Given the description of an element on the screen output the (x, y) to click on. 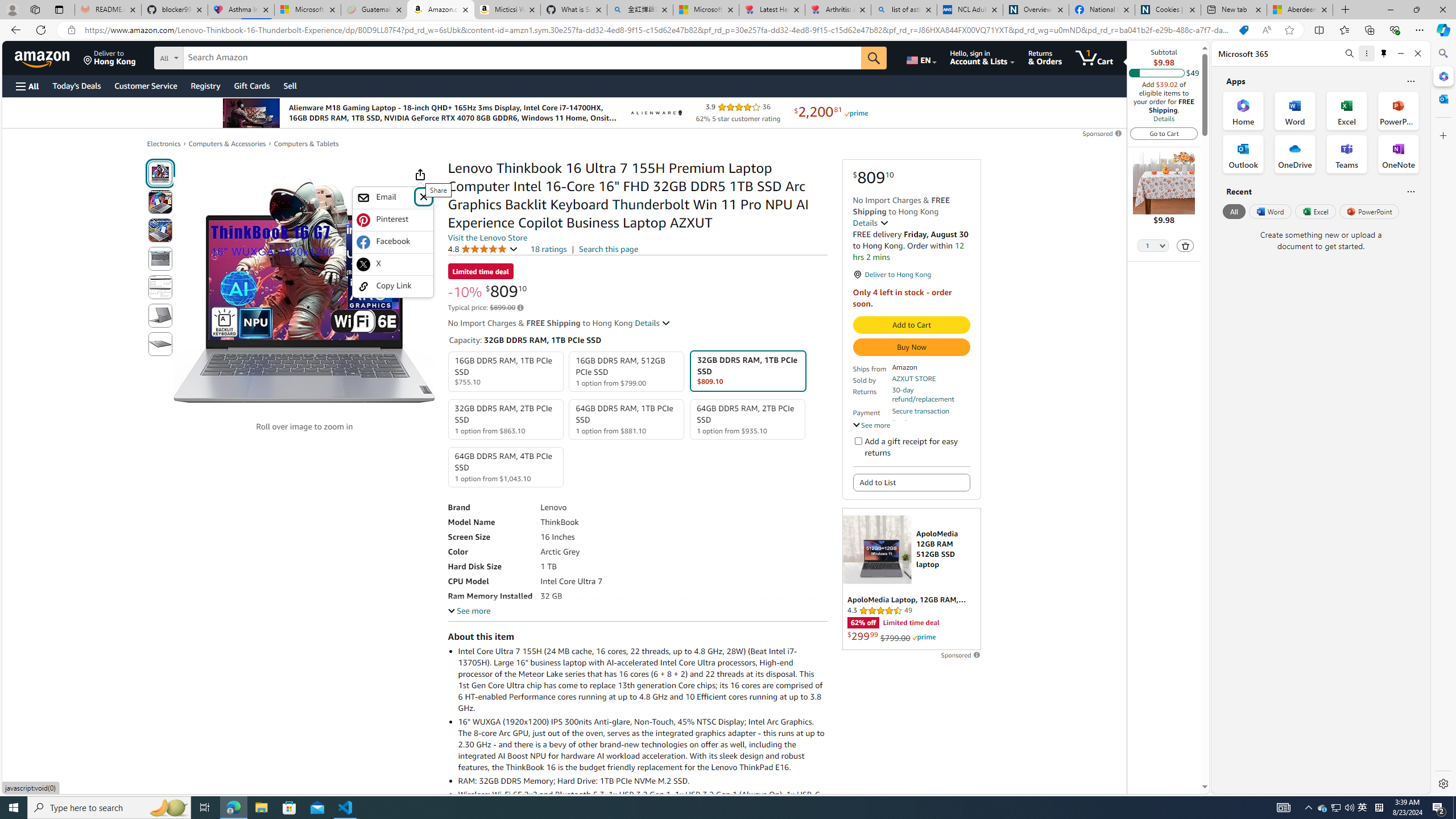
Search Amazon (522, 57)
Details  (652, 322)
Copy Link (392, 286)
Computers & Tablets (306, 143)
Outlook Office App (1243, 154)
Electronics (163, 144)
Visit the Lenovo Store (486, 237)
